Given the description of an element on the screen output the (x, y) to click on. 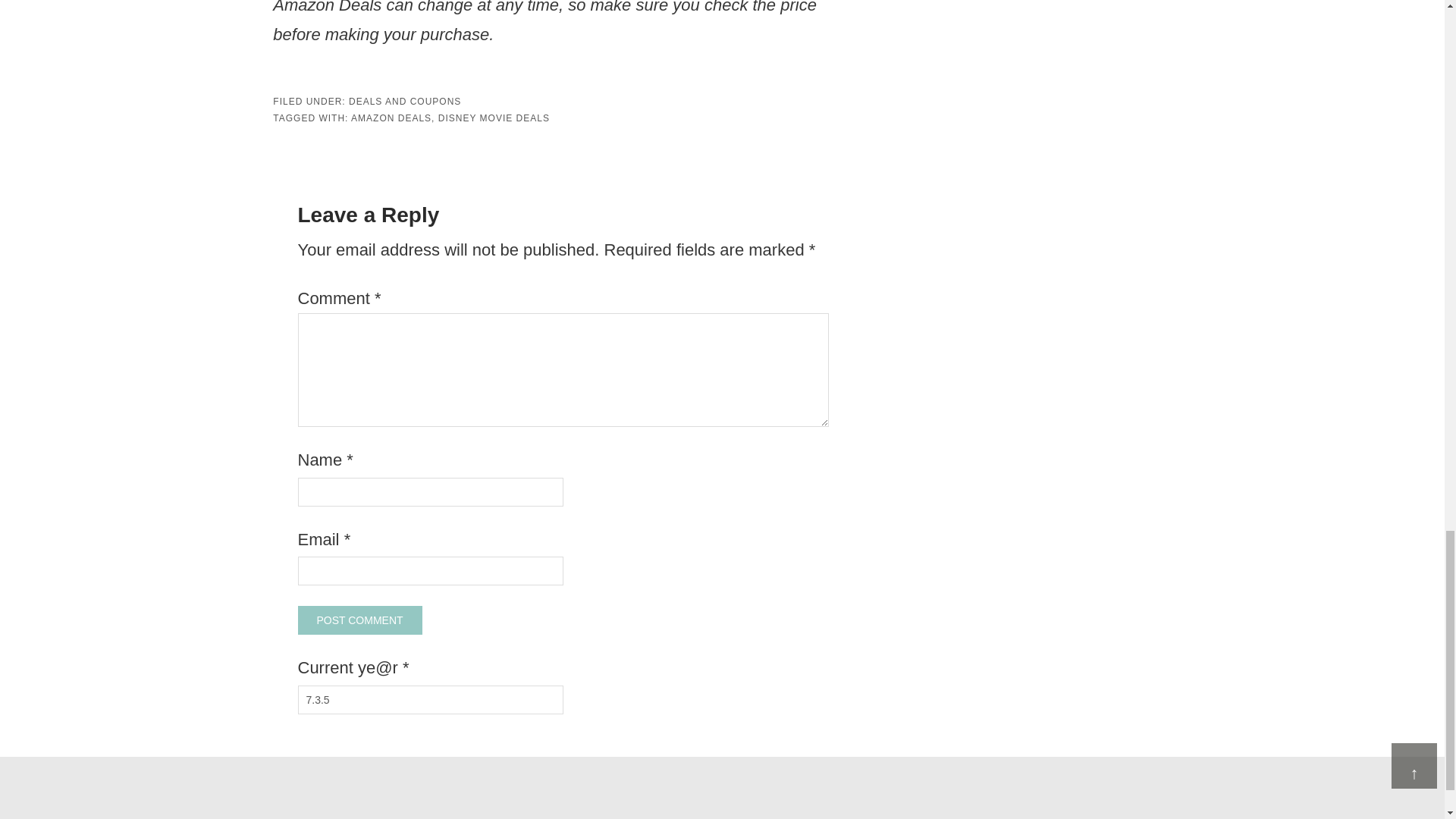
Post Comment (359, 620)
7.3.5 (429, 699)
